Given the description of an element on the screen output the (x, y) to click on. 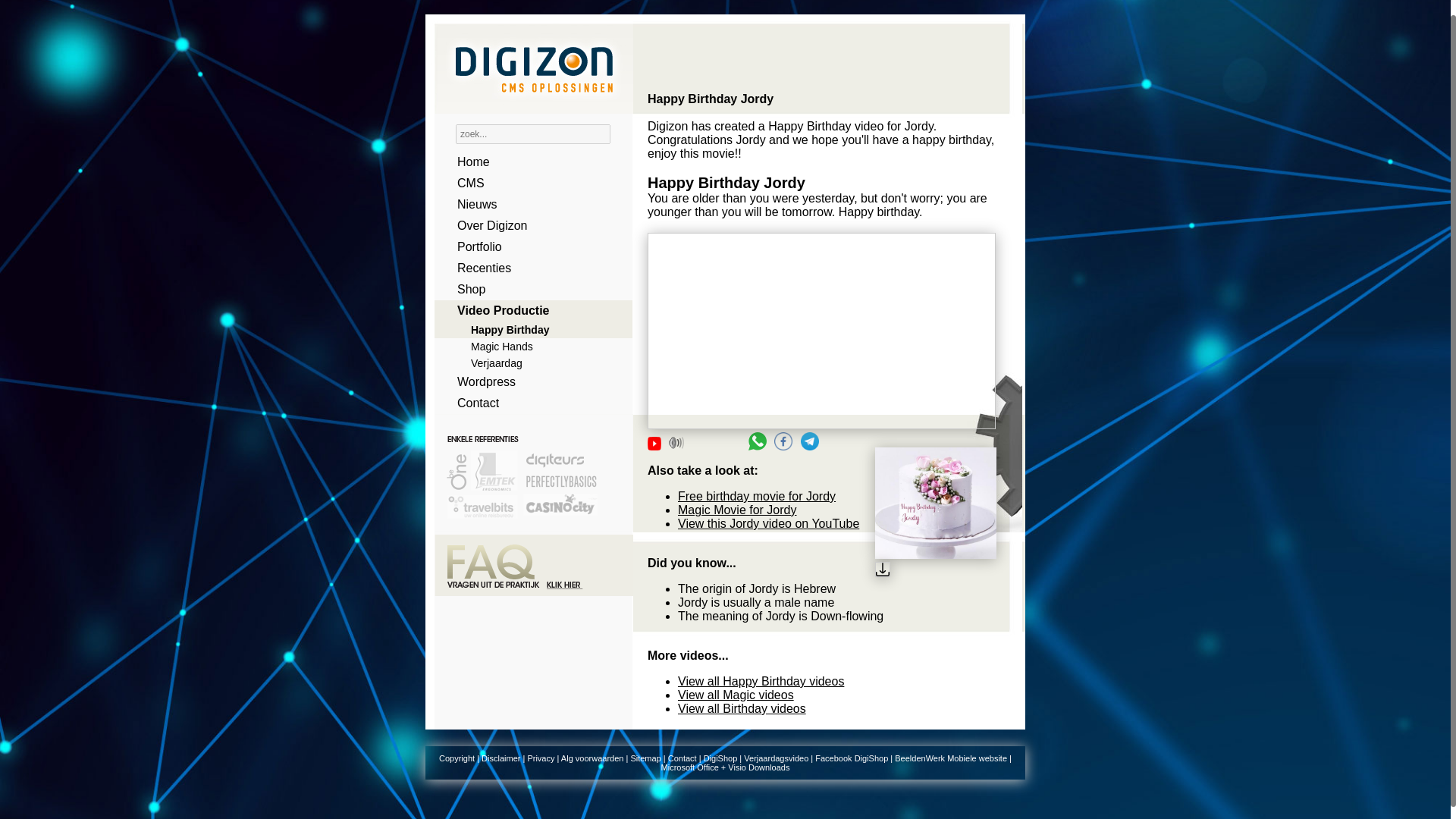
Contact (682, 757)
Magic Movie for Jordy (737, 509)
BeeldenWerk Mobiele website (951, 757)
View on Youtube (654, 443)
Over Digizon (528, 225)
Home (528, 161)
Shop (528, 289)
View this Jordy video on YouTube (768, 522)
Free birthday movie for Jordy (756, 495)
Happy Birthday (528, 329)
